Given the description of an element on the screen output the (x, y) to click on. 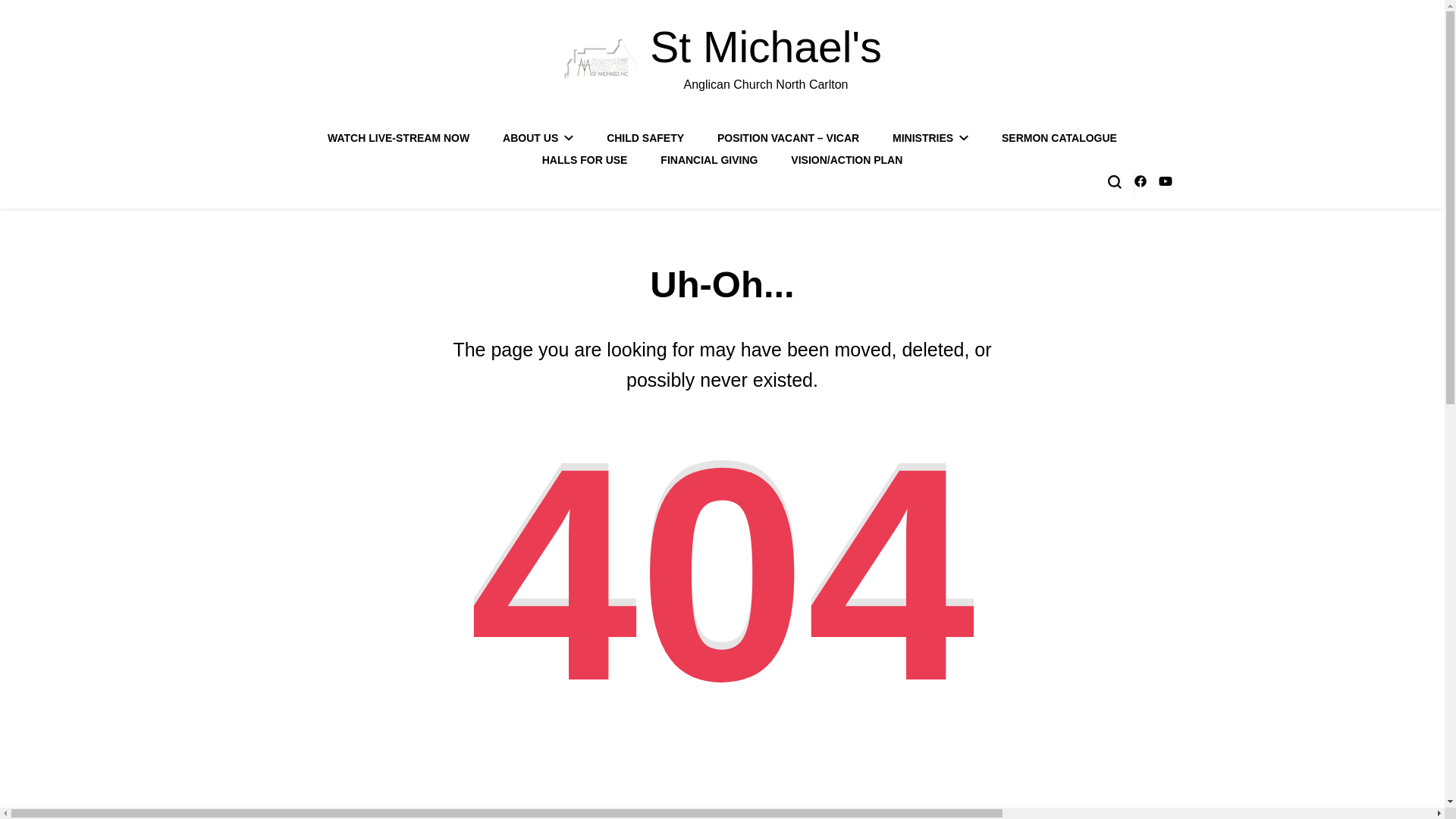
WATCH LIVE-STREAM NOW (397, 137)
St Michael's (764, 46)
ABOUT US (537, 137)
CHILD SAFETY (645, 137)
